Given the description of an element on the screen output the (x, y) to click on. 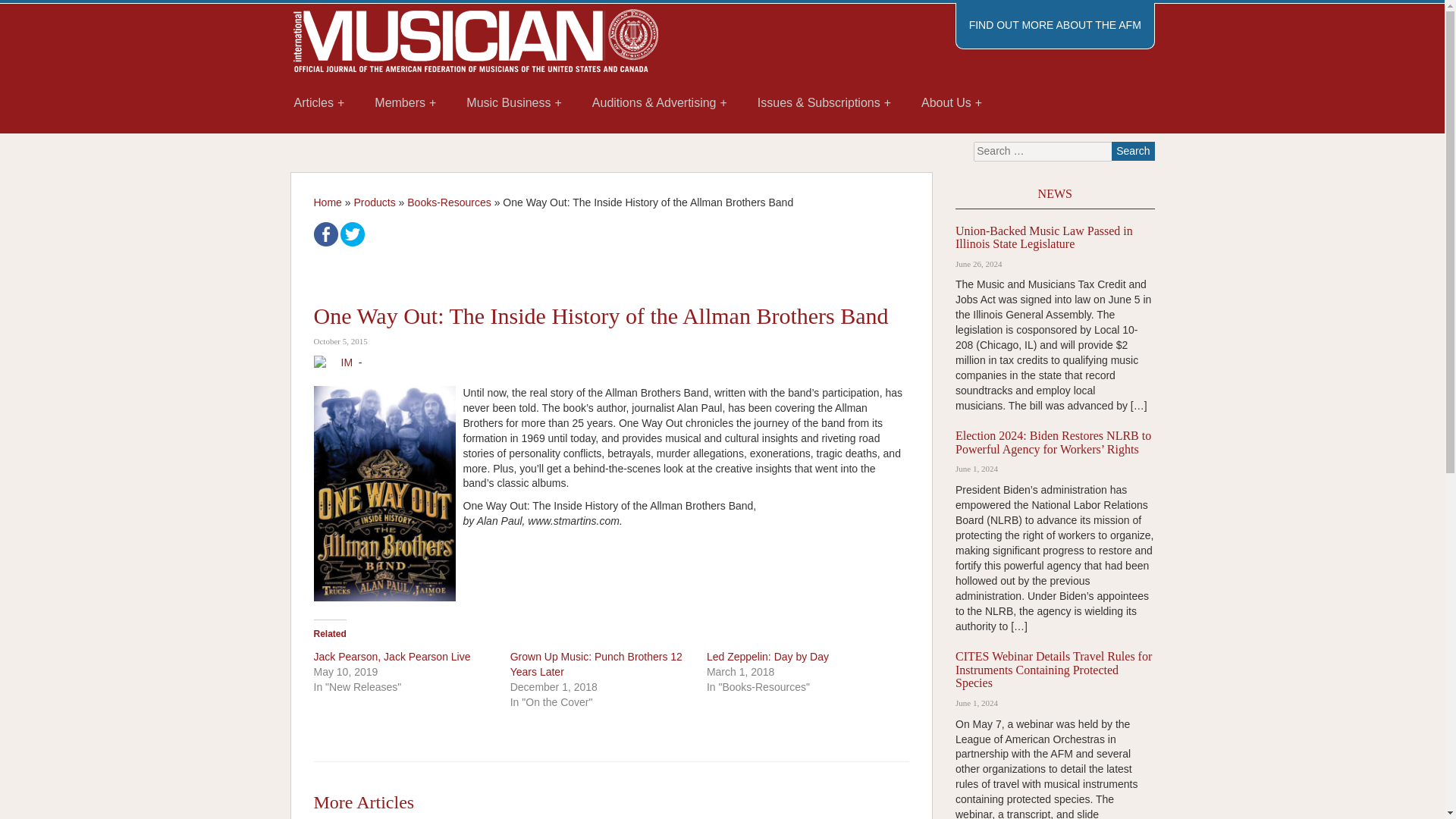
Led Zeppelin: Day by Day (767, 656)
Search (1133, 150)
Jack Pearson, Jack Pearson Live (392, 656)
About Us (951, 102)
Music Business (513, 102)
Articles (319, 102)
Grown Up Music: Punch Brothers 12 Years Later (596, 664)
Members (405, 102)
Posts by IM (346, 362)
Search (1133, 150)
Tweet (352, 233)
Share on Facebook (325, 233)
